Given the description of an element on the screen output the (x, y) to click on. 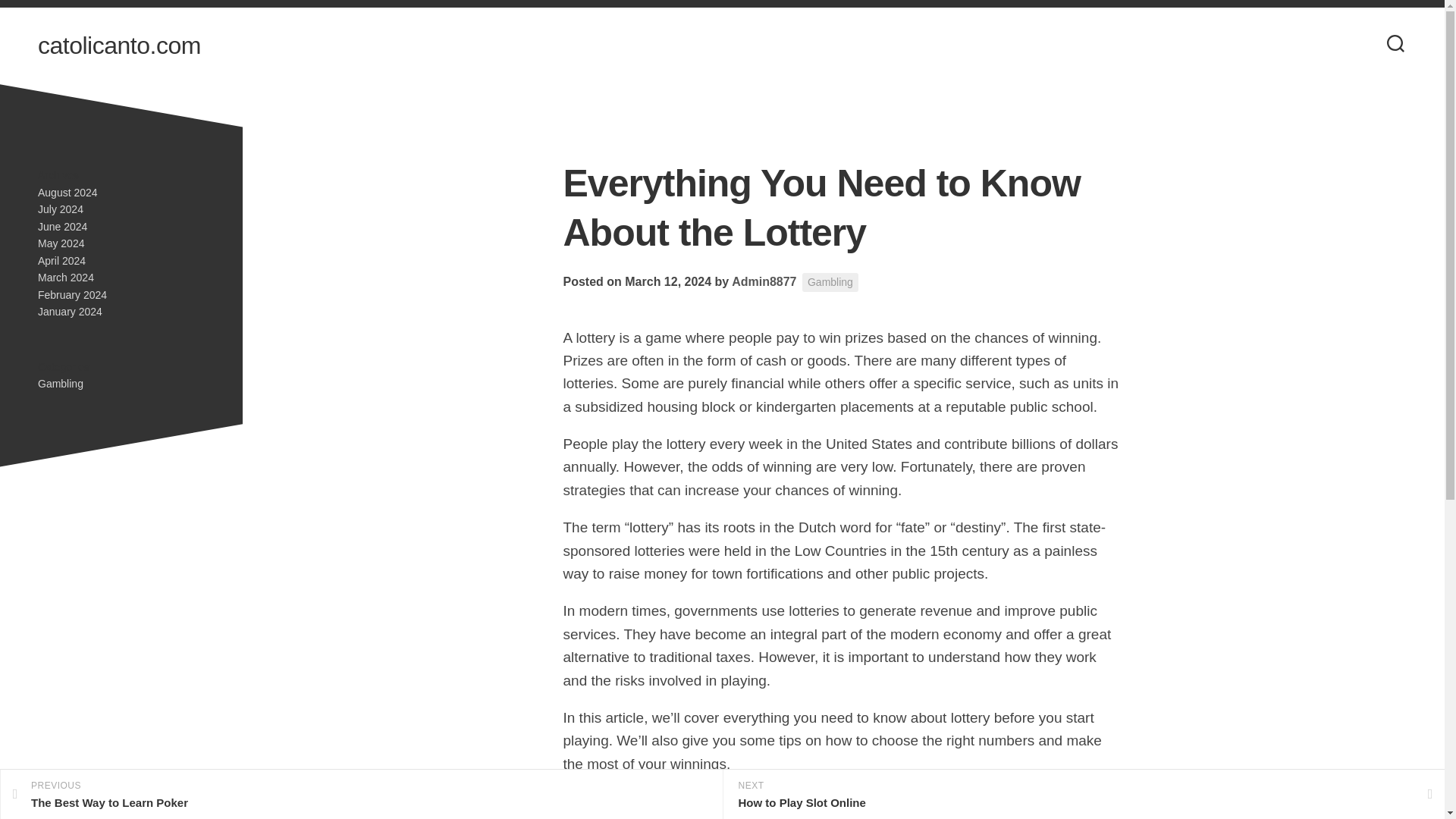
May 2024 (60, 243)
Posts by Admin8877 (764, 281)
June 2024 (62, 225)
February 2024 (71, 294)
Gambling (59, 383)
August 2024 (67, 192)
July 2024 (59, 209)
January 2024 (69, 311)
April 2024 (61, 260)
March 2024 (65, 277)
